Given the description of an element on the screen output the (x, y) to click on. 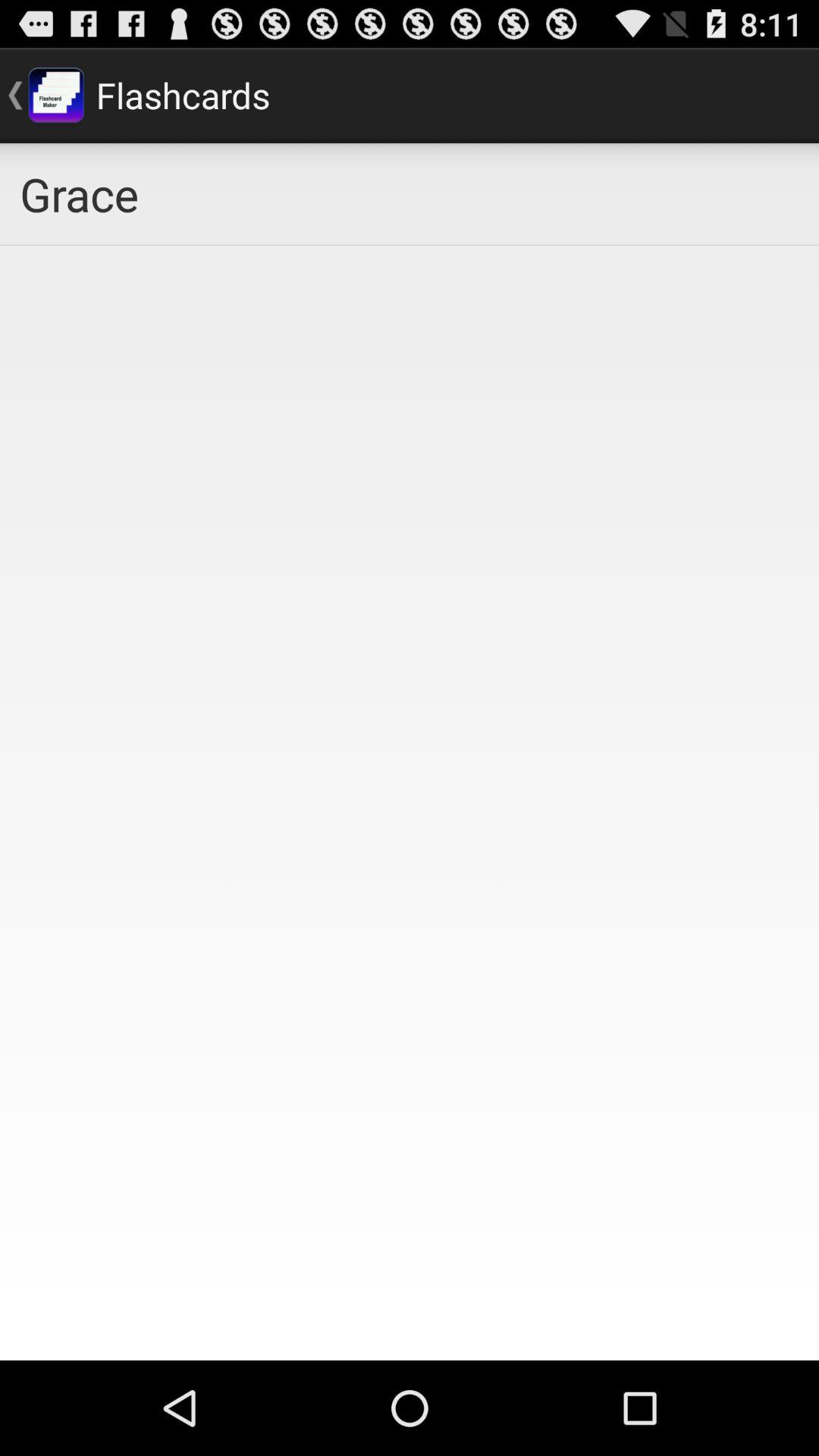
choose grace (409, 193)
